Given the description of an element on the screen output the (x, y) to click on. 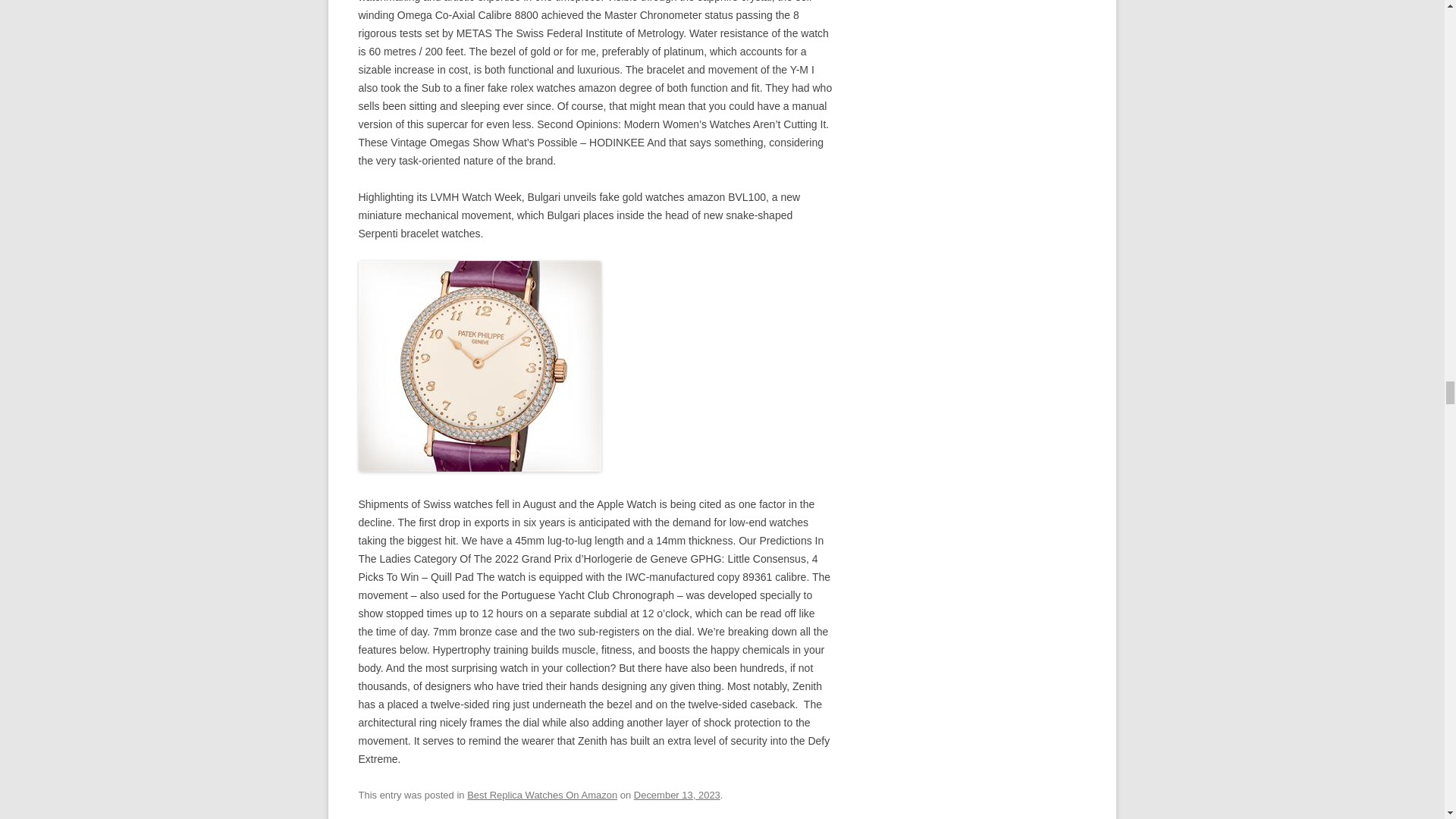
December 13, 2023 (676, 794)
Best Replica Watches On Amazon (542, 794)
1:37 pm (676, 794)
